Given the description of an element on the screen output the (x, y) to click on. 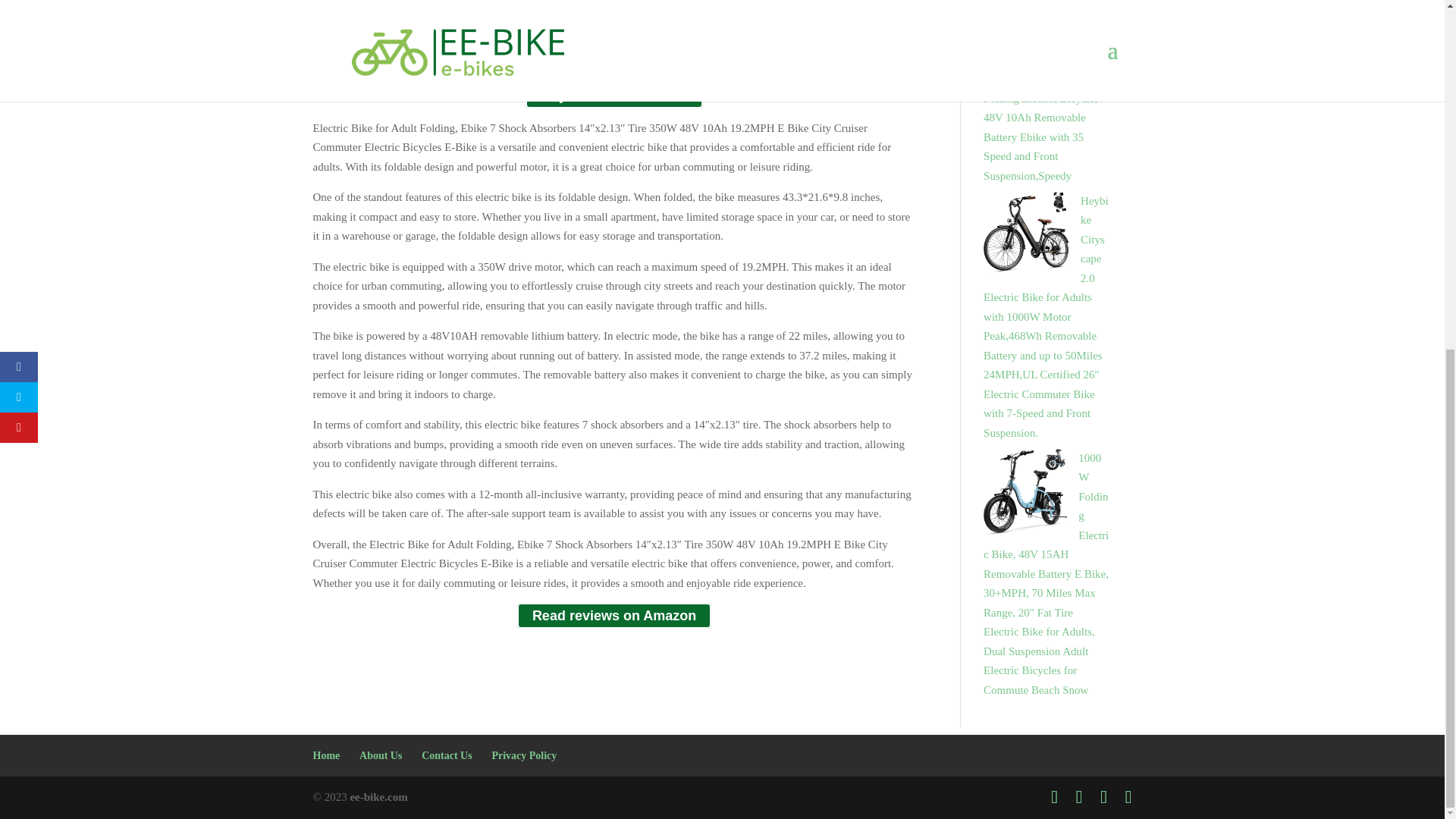
Contact Us (446, 755)
About Us (380, 755)
Privacy Policy (524, 755)
ee-bike.com (378, 797)
Read reviews on Amazon (613, 615)
Electric Bike for Adult Folding, Ebike 7 Shock Absorbers 14 (614, 30)
Buy now from Amazon (614, 95)
Home (326, 755)
